Given the description of an element on the screen output the (x, y) to click on. 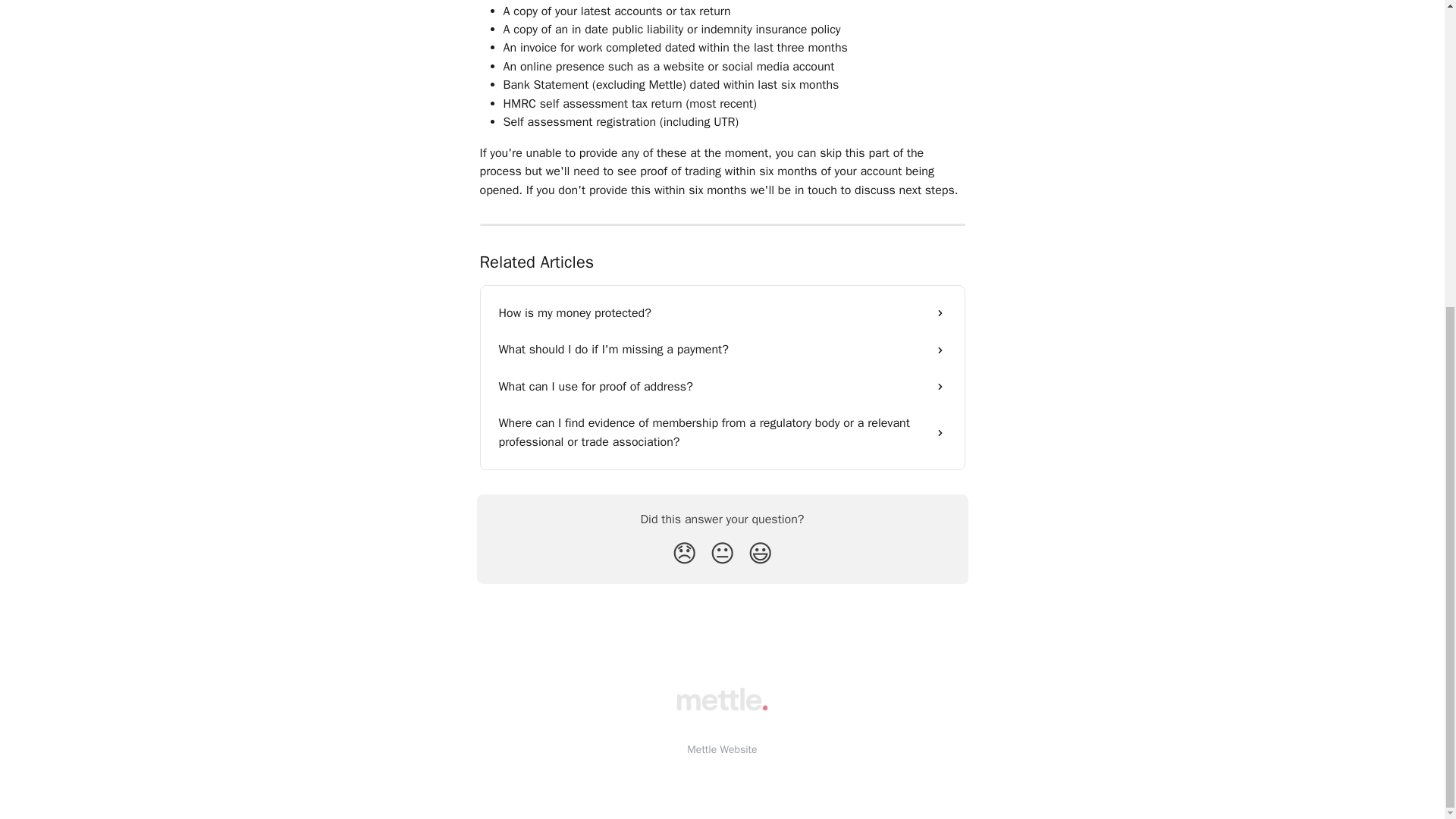
What should I do if I'm missing a payment? (722, 349)
What can I use for proof of address? (722, 386)
How is my money protected? (722, 312)
Mettle Website (722, 748)
